Given the description of an element on the screen output the (x, y) to click on. 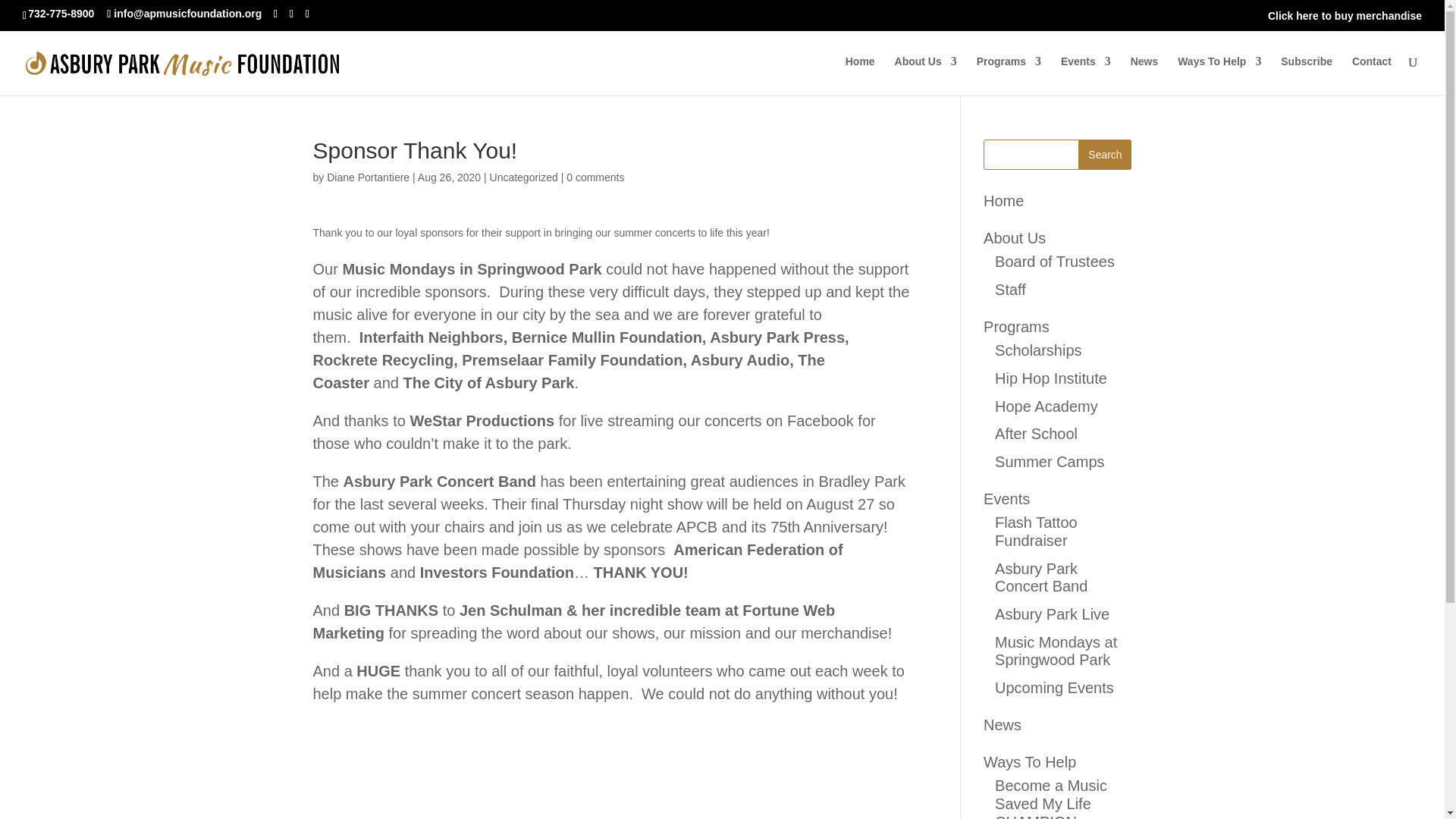
Posts by Diane Portantiere (367, 177)
DONATE NOW (1218, 15)
Click here to buy merchandise (1345, 15)
About Us (925, 73)
Subscribe (1306, 73)
Search (1104, 154)
Programs (1008, 73)
Ways To Help (1218, 73)
Events (1085, 73)
